Given the description of an element on the screen output the (x, y) to click on. 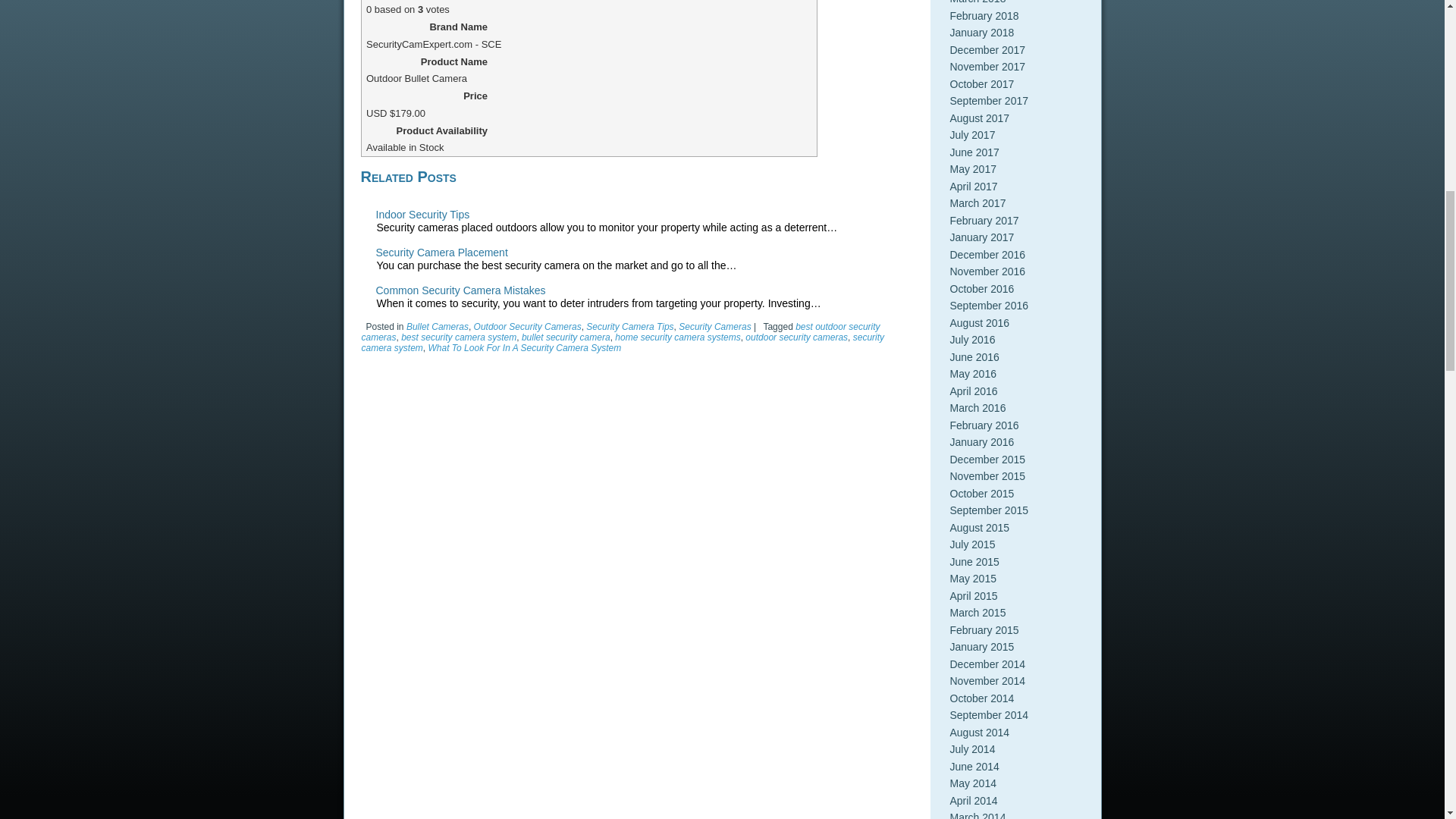
What To Look For In A Security Camera System (524, 347)
Common Security Camera Mistakes (460, 290)
best outdoor security cameras (620, 332)
Security Camera Tips (629, 326)
Outdoor Security Cameras (527, 326)
home security camera systems (676, 337)
Bullet Cameras (437, 326)
Security Camera Placement (441, 252)
Security Cameras (714, 326)
best security camera system (458, 337)
outdoor security cameras (796, 337)
Indoor Security Tips (422, 214)
security camera system (622, 342)
bullet security camera (565, 337)
